Given the description of an element on the screen output the (x, y) to click on. 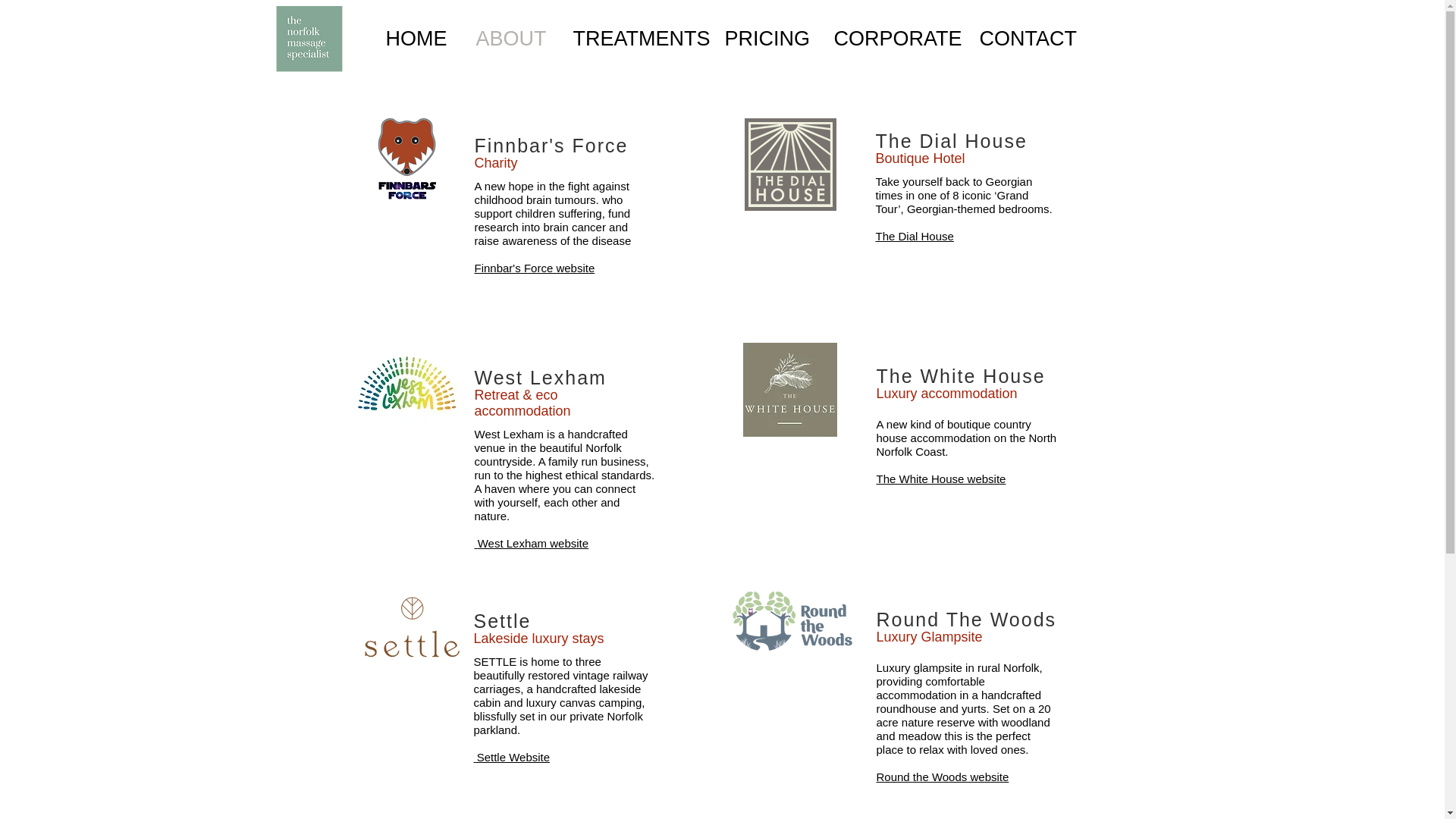
 Settle Website (511, 757)
HOME (419, 38)
Round the Woods website (942, 776)
Finnbar's Force website (534, 267)
PRICING (767, 38)
TREATMENTS (636, 38)
CORPORATE (895, 38)
CONTACT (1030, 38)
ABOUT (512, 38)
The Dial House (914, 236)
